Given the description of an element on the screen output the (x, y) to click on. 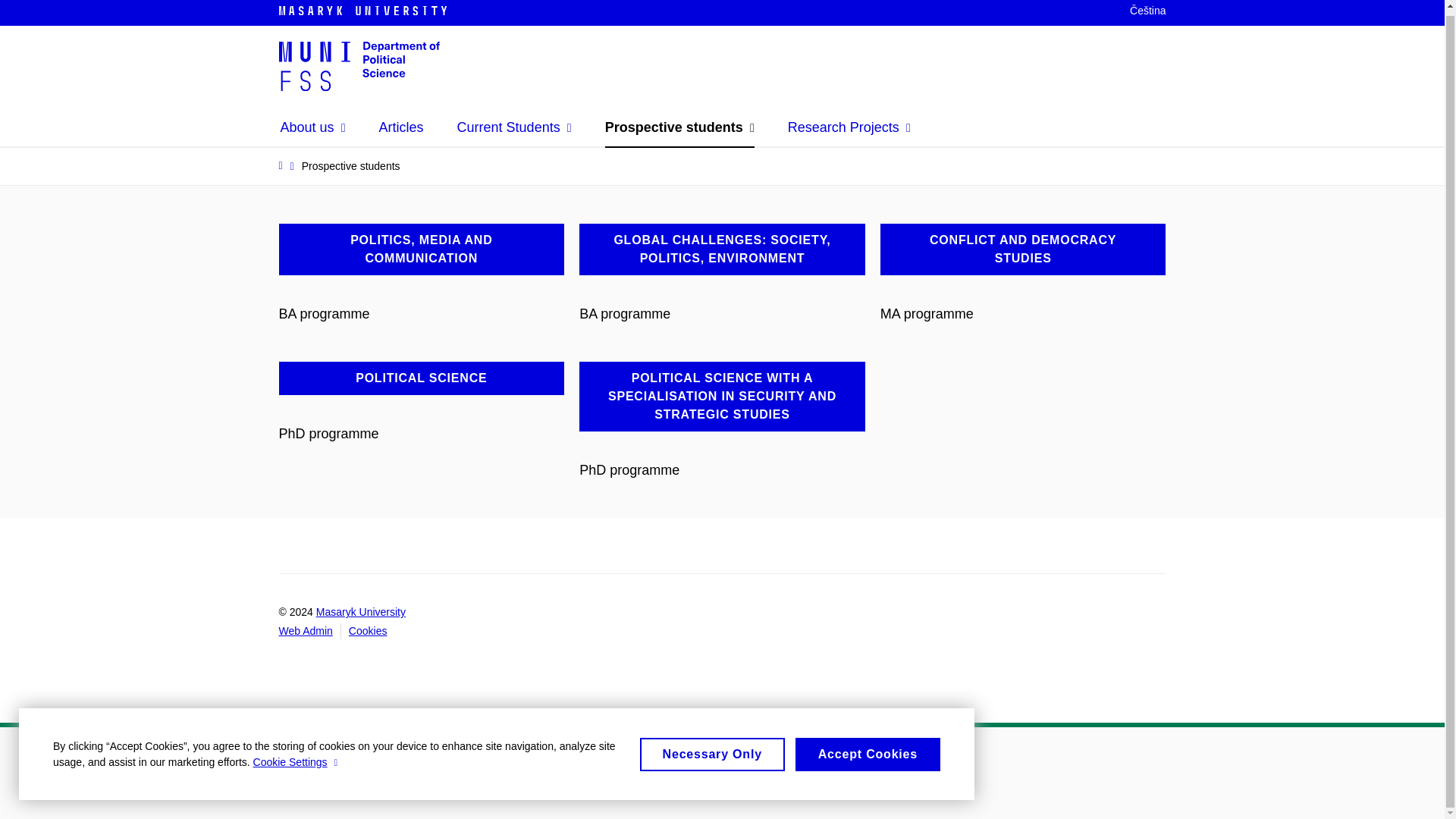
Masaryk University (377, 10)
Homepage site (359, 64)
Department of Political Science (359, 64)
Research Projects (849, 126)
Prospective students (679, 126)
About us (313, 126)
Current Students (514, 126)
Department of Political Science (359, 64)
Articles (400, 126)
